Given the description of an element on the screen output the (x, y) to click on. 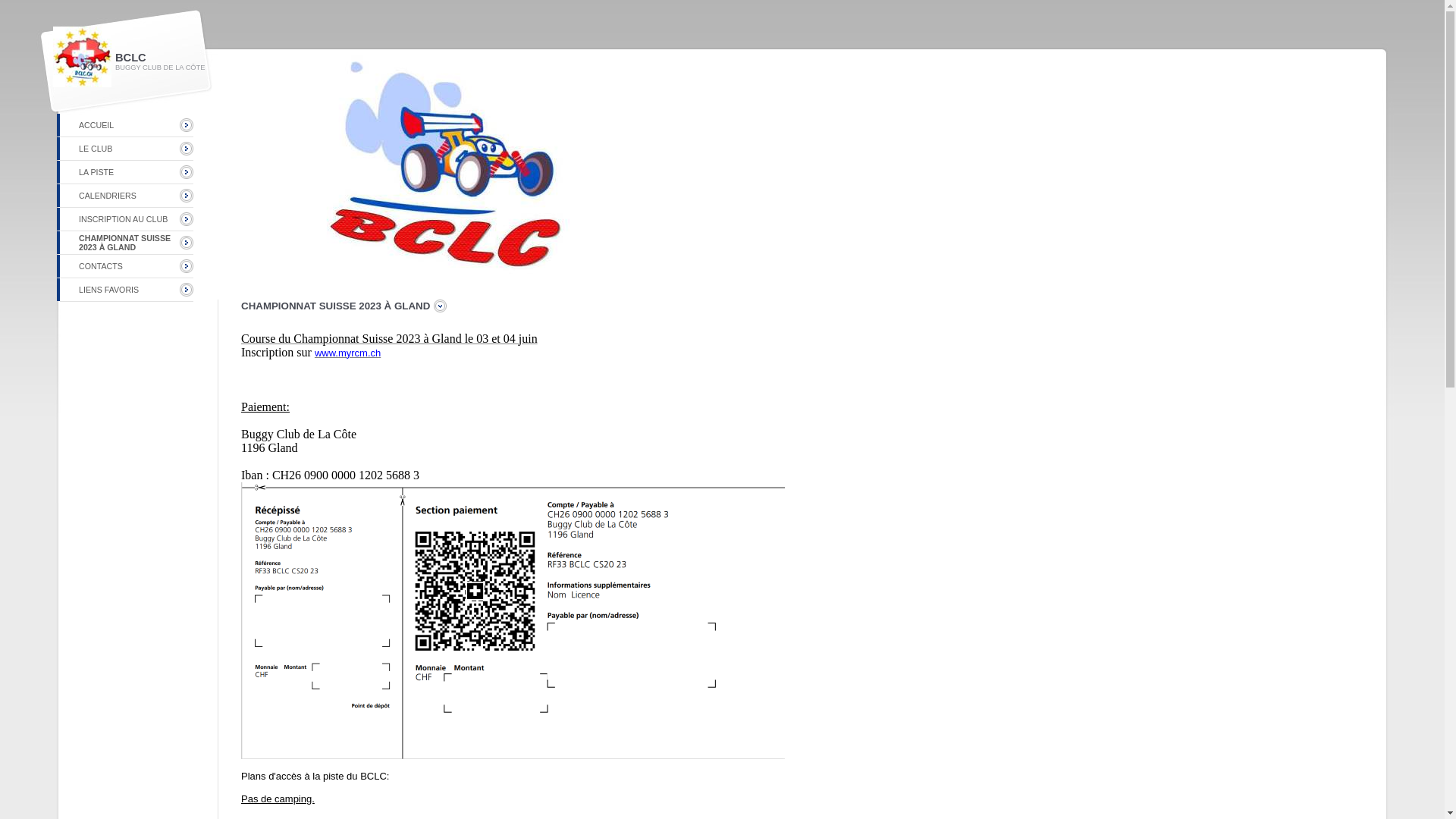
CONTACTS Element type: text (100, 265)
CALENDRIERS Element type: text (107, 195)
www.myrcm.ch Element type: text (347, 352)
LA PISTE Element type: text (95, 171)
LIENS FAVORIS Element type: text (108, 289)
ACCUEIL Element type: text (95, 124)
INSCRIPTION AU CLUB Element type: text (122, 218)
LE CLUB Element type: text (95, 148)
